Given the description of an element on the screen output the (x, y) to click on. 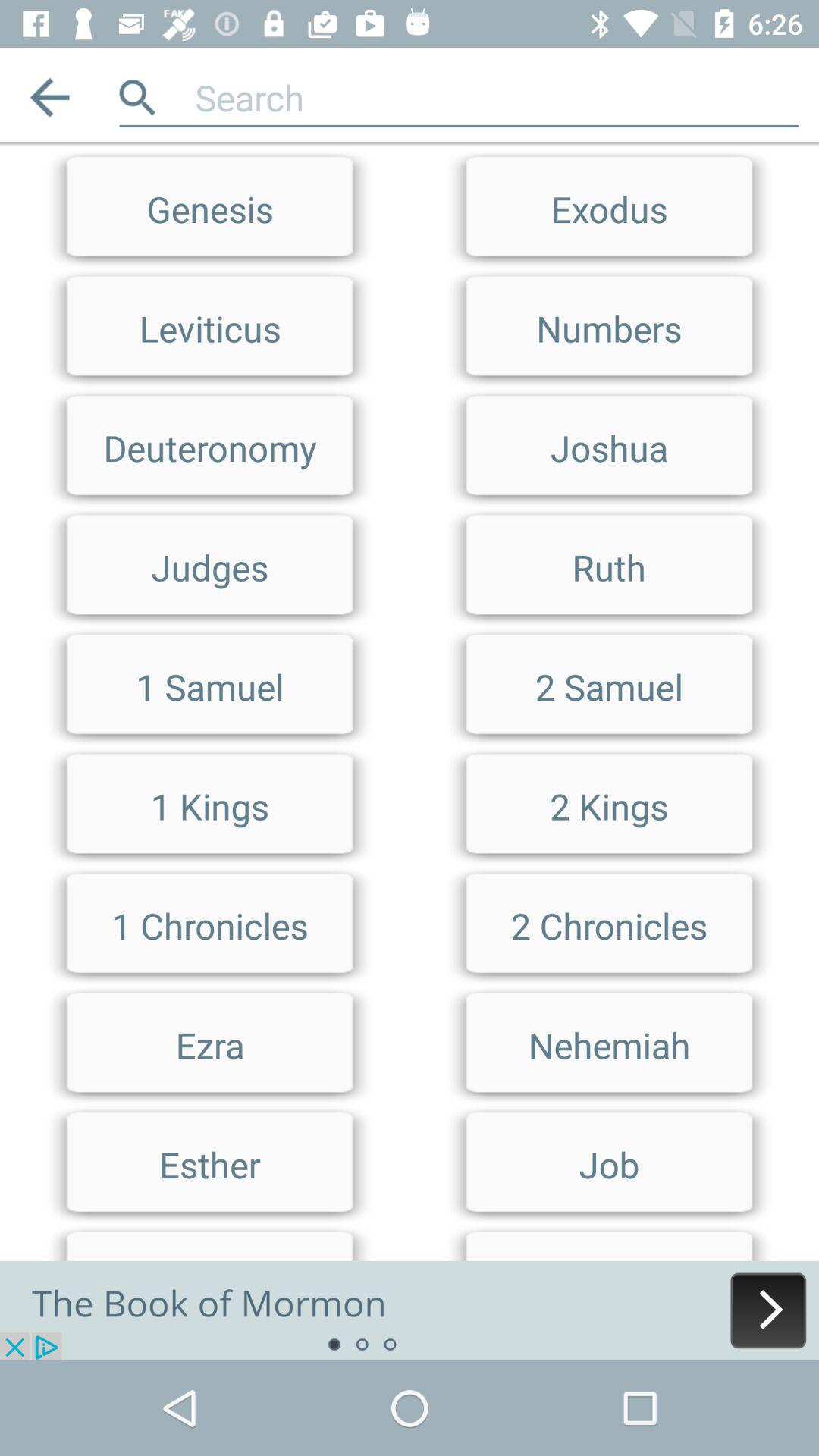
limit (409, 148)
